Given the description of an element on the screen output the (x, y) to click on. 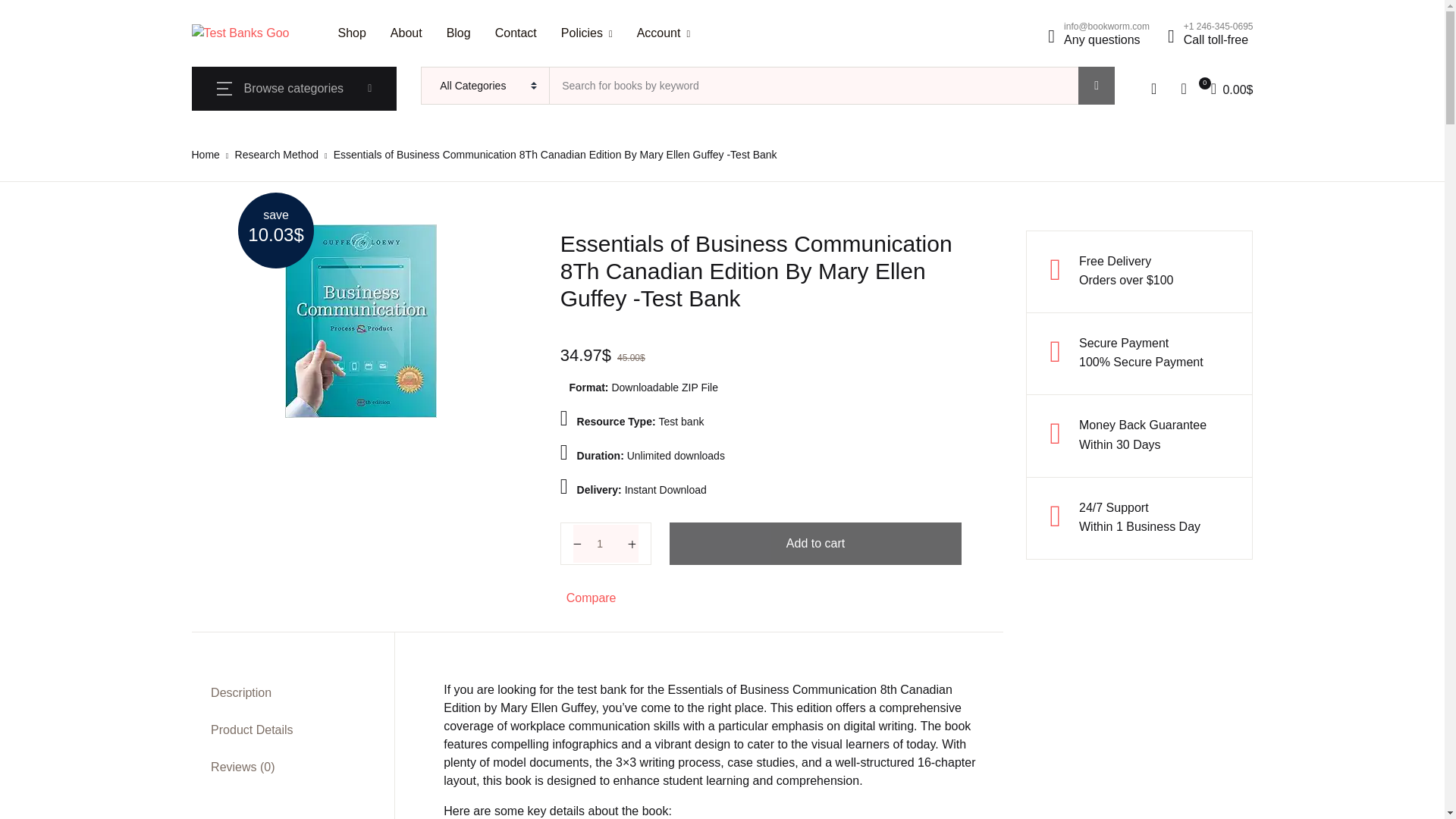
1 (606, 543)
Browse categories (293, 88)
Contact (516, 33)
Policies (586, 33)
Account (663, 33)
Policies (586, 33)
Contact (516, 33)
Account (663, 33)
